Given the description of an element on the screen output the (x, y) to click on. 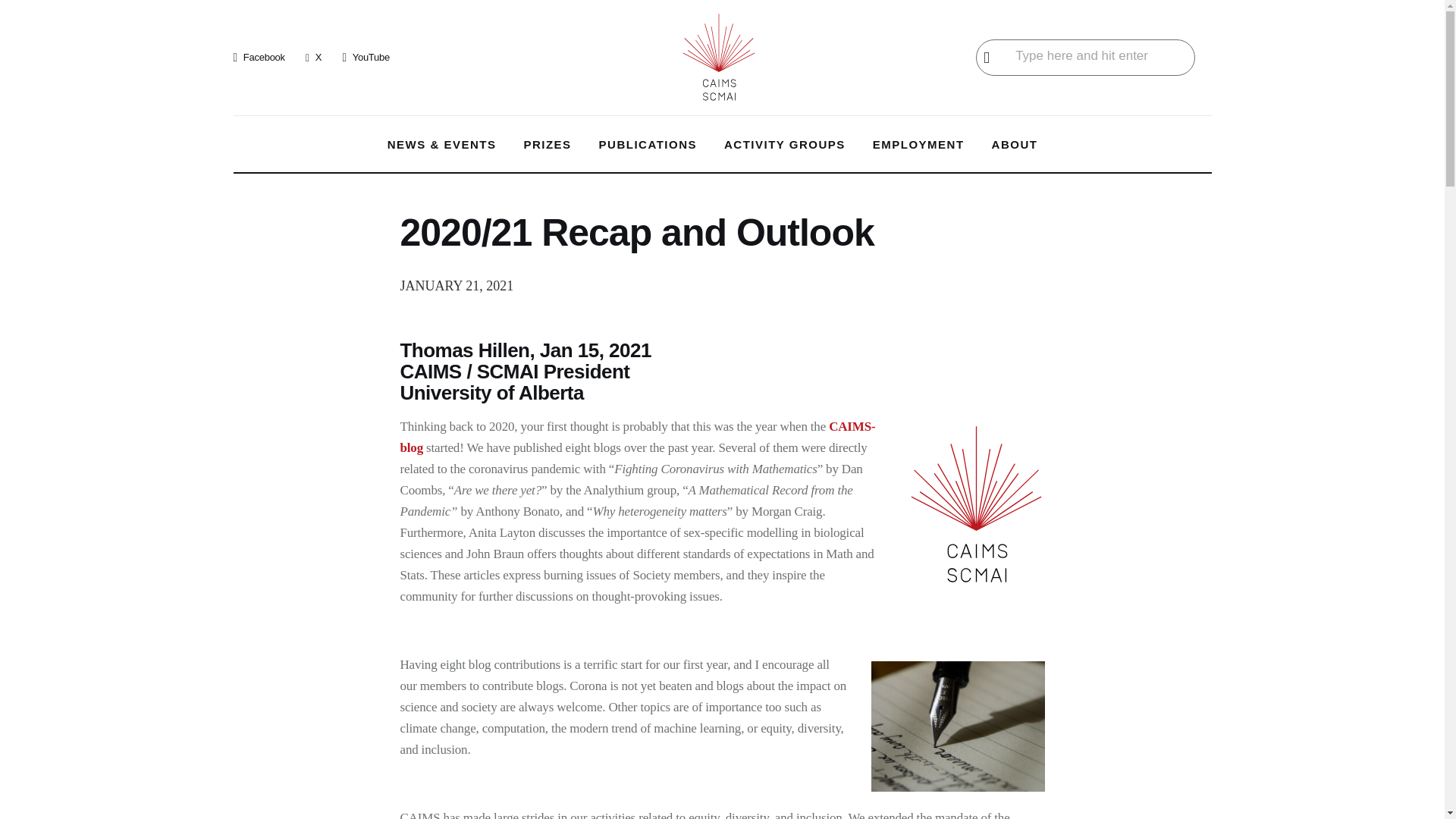
YouTube (366, 57)
PRIZES (547, 144)
ACTIVITY GROUPS (784, 144)
EMPLOYMENT (918, 144)
PUBLICATIONS (647, 144)
Facebook (258, 57)
ABOUT (1014, 144)
